Given the description of an element on the screen output the (x, y) to click on. 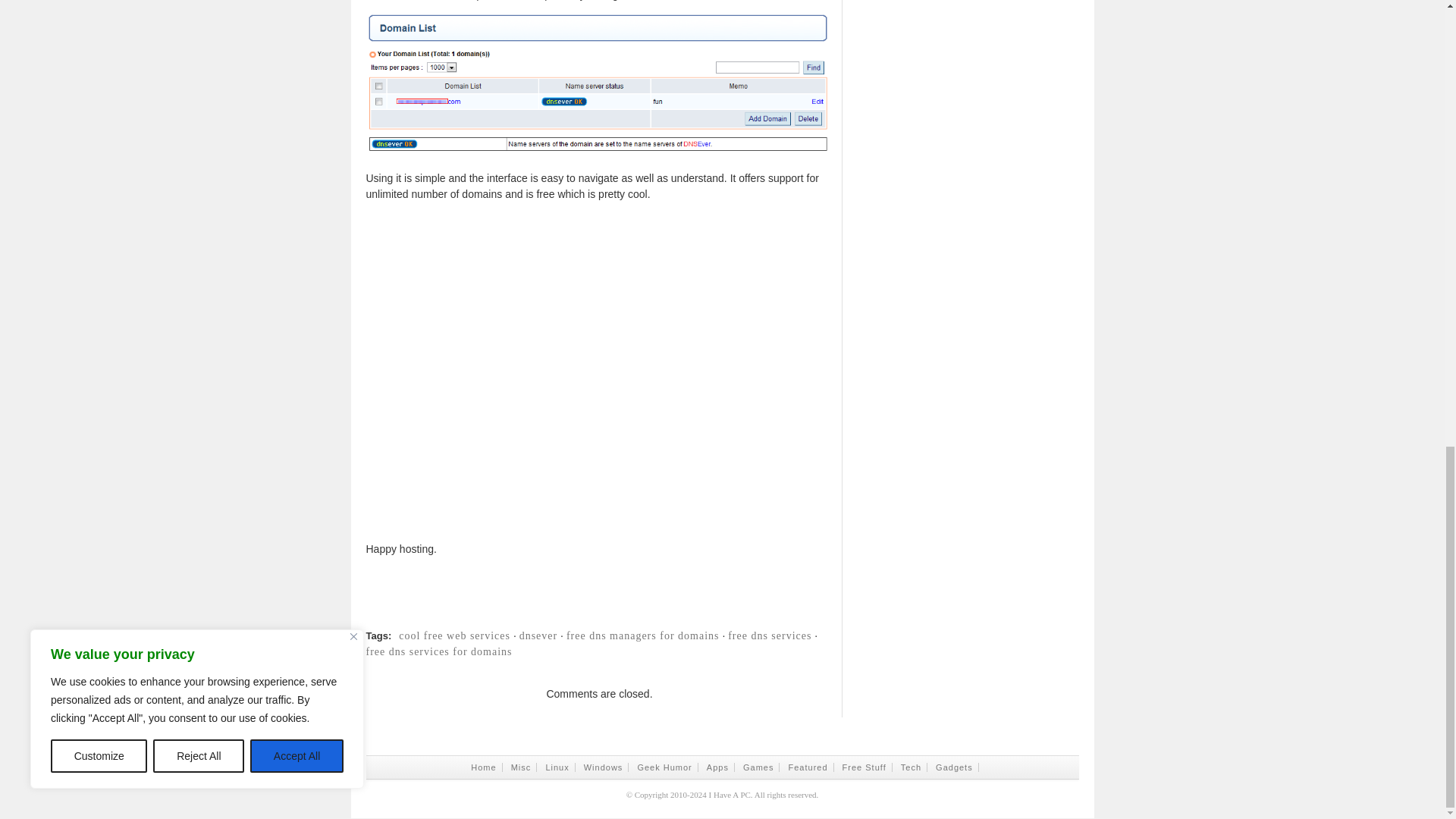
Tweet (954, 619)
dnsever1 (598, 84)
Facebook Share (721, 619)
Pin Share (1189, 619)
